Given the description of an element on the screen output the (x, y) to click on. 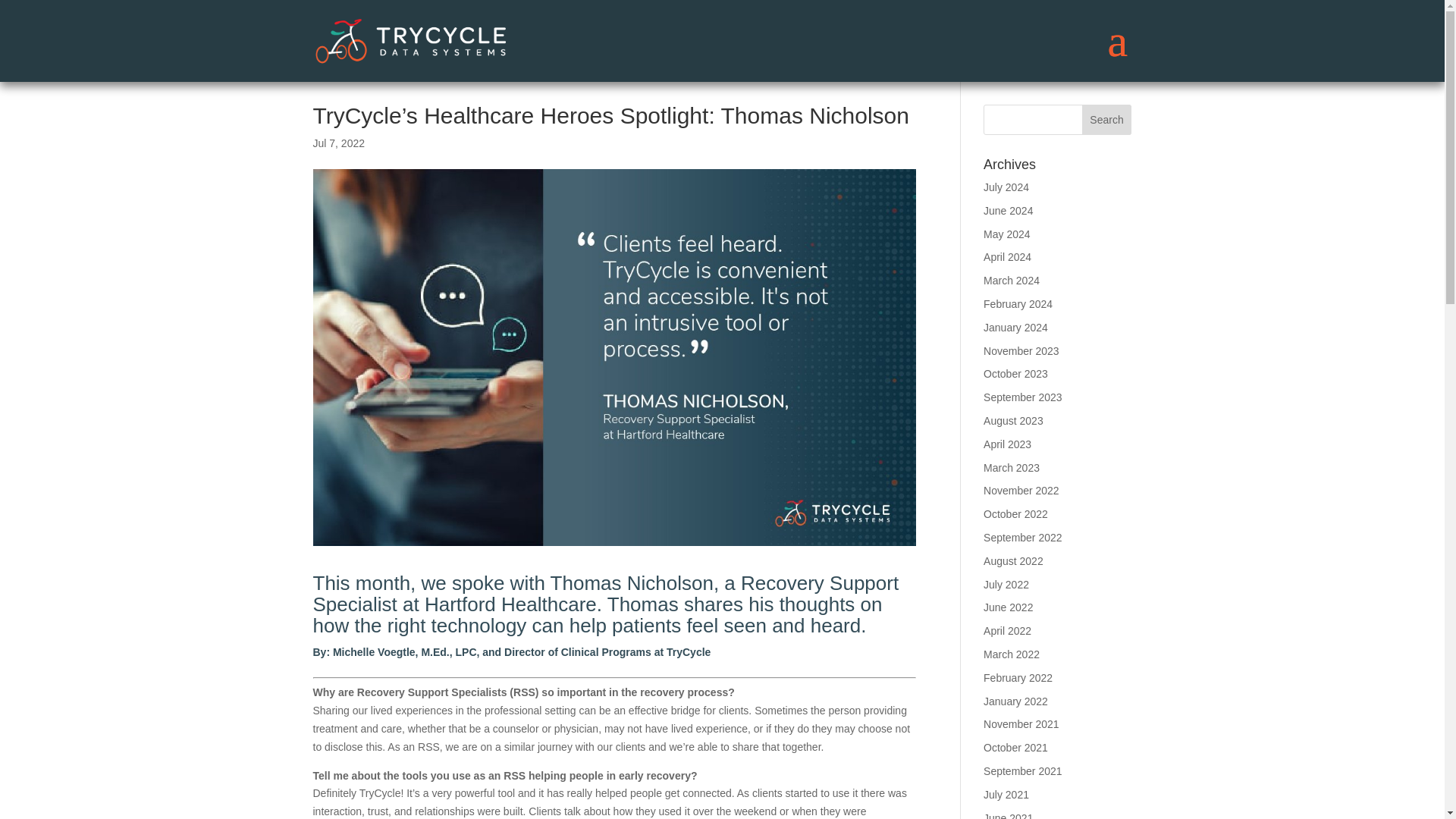
April 2022 (1007, 630)
August 2022 (1013, 561)
November 2022 (1021, 490)
Search (1106, 119)
July 2022 (1006, 584)
September 2023 (1023, 397)
February 2024 (1018, 304)
July 2024 (1006, 186)
May 2024 (1006, 234)
June 2024 (1008, 210)
March 2024 (1011, 280)
March 2023 (1011, 467)
September 2022 (1023, 537)
Search (1106, 119)
April 2023 (1007, 444)
